Given the description of an element on the screen output the (x, y) to click on. 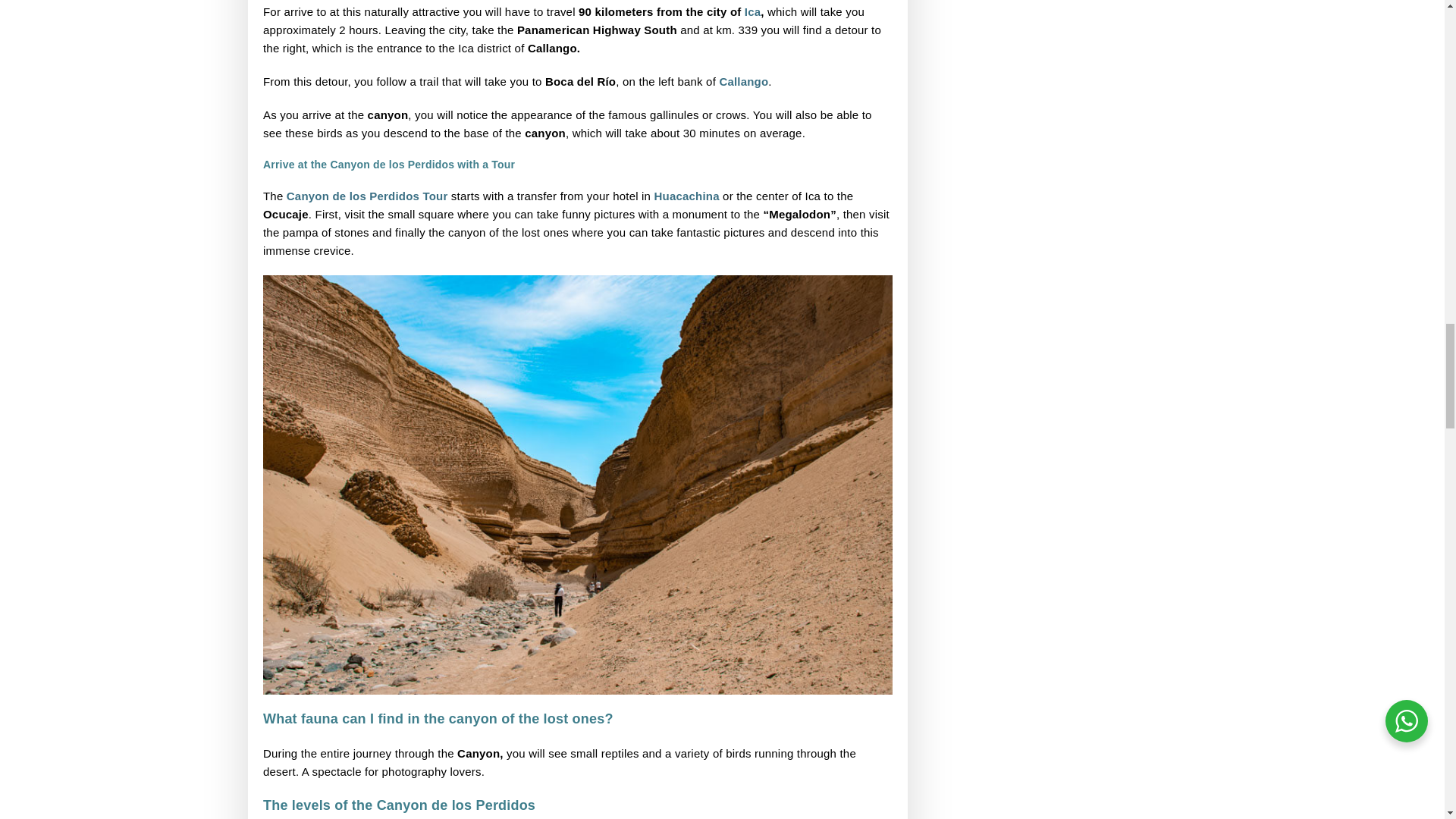
Ica (752, 11)
